Given the description of an element on the screen output the (x, y) to click on. 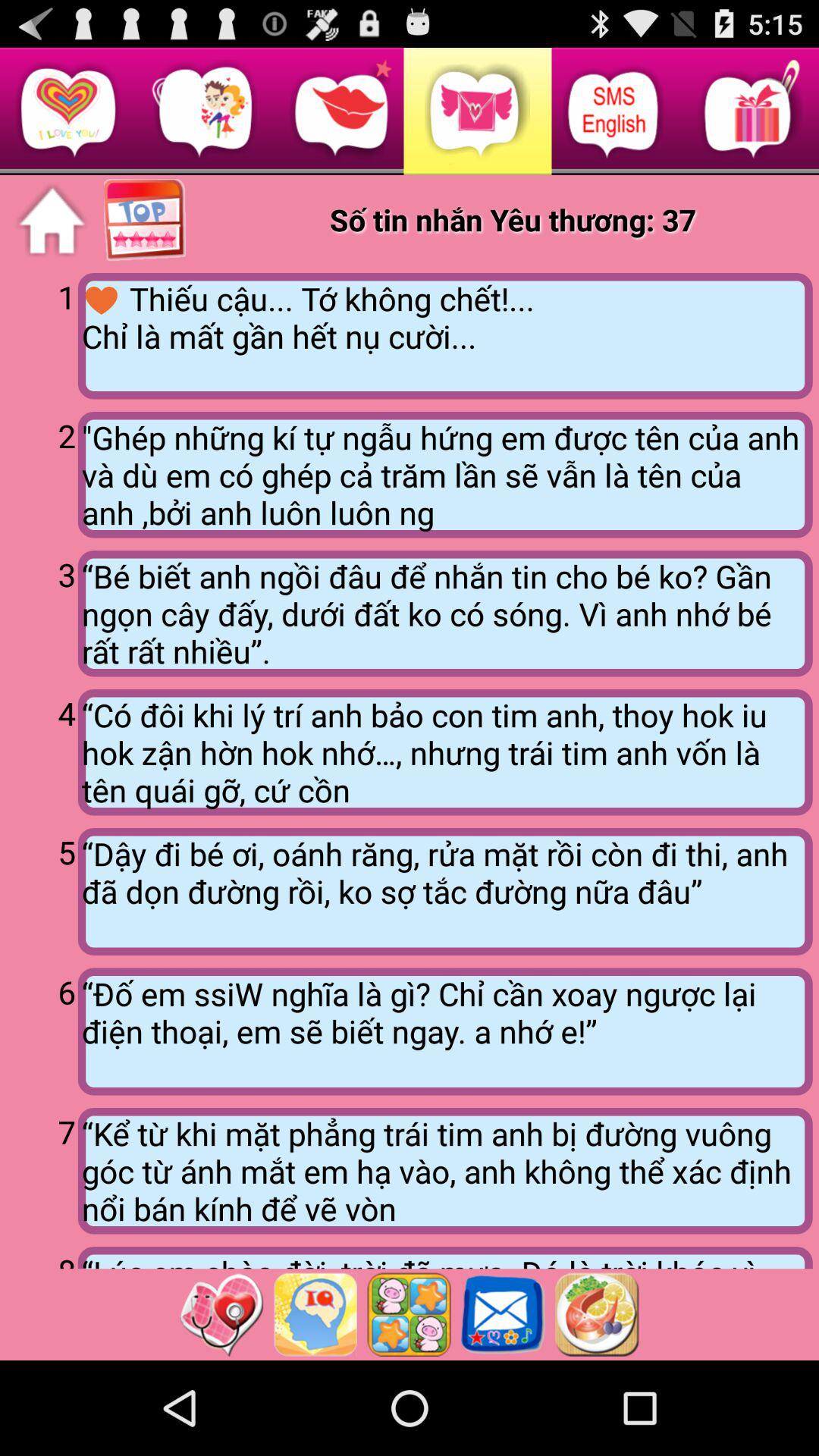
launch the item above the 4 (444, 613)
